Given the description of an element on the screen output the (x, y) to click on. 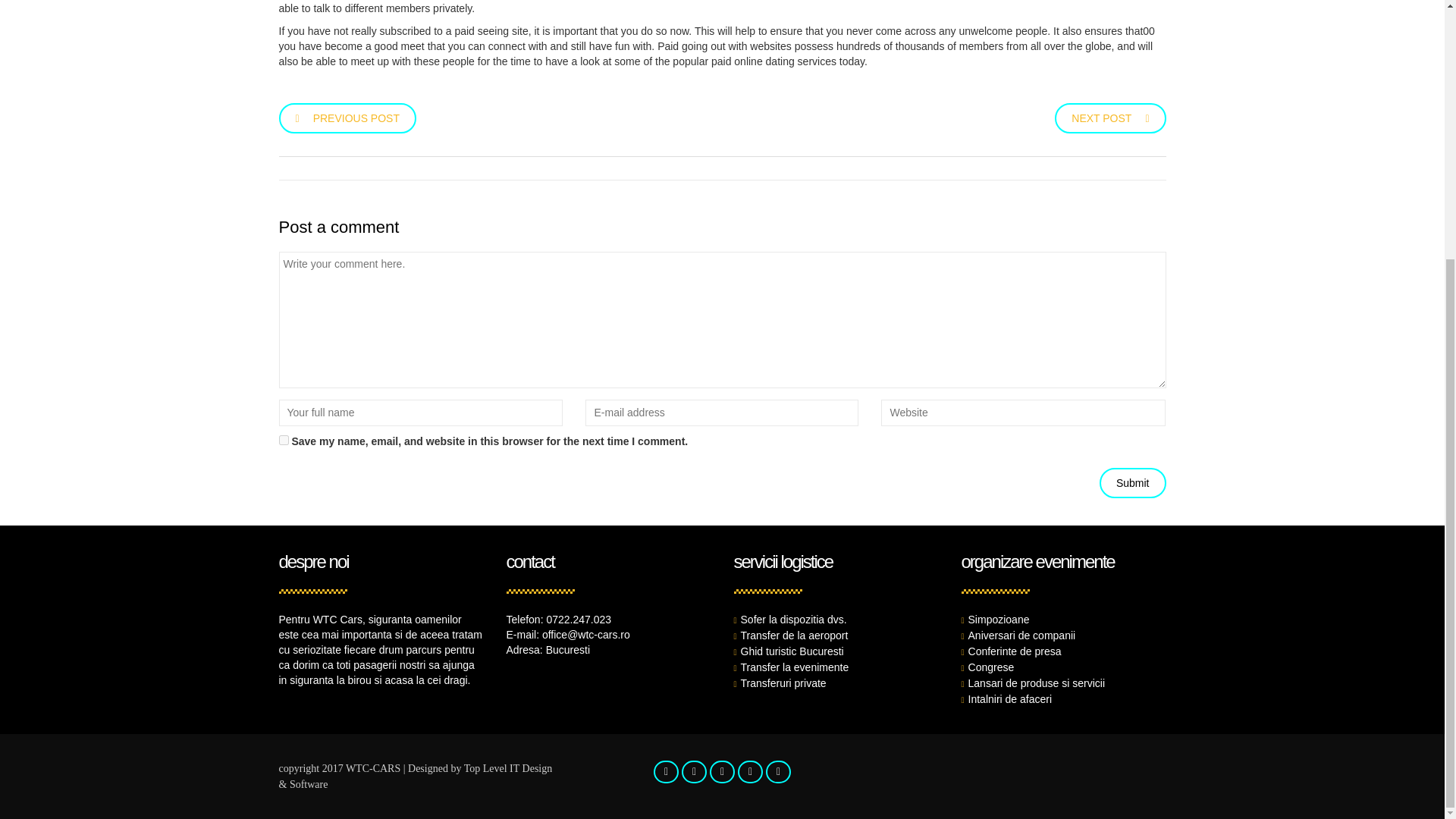
yes (283, 439)
NEXT POST (1110, 116)
Submit (1132, 482)
PREVIOUS POST (347, 116)
Submit (1132, 482)
